Given the description of an element on the screen output the (x, y) to click on. 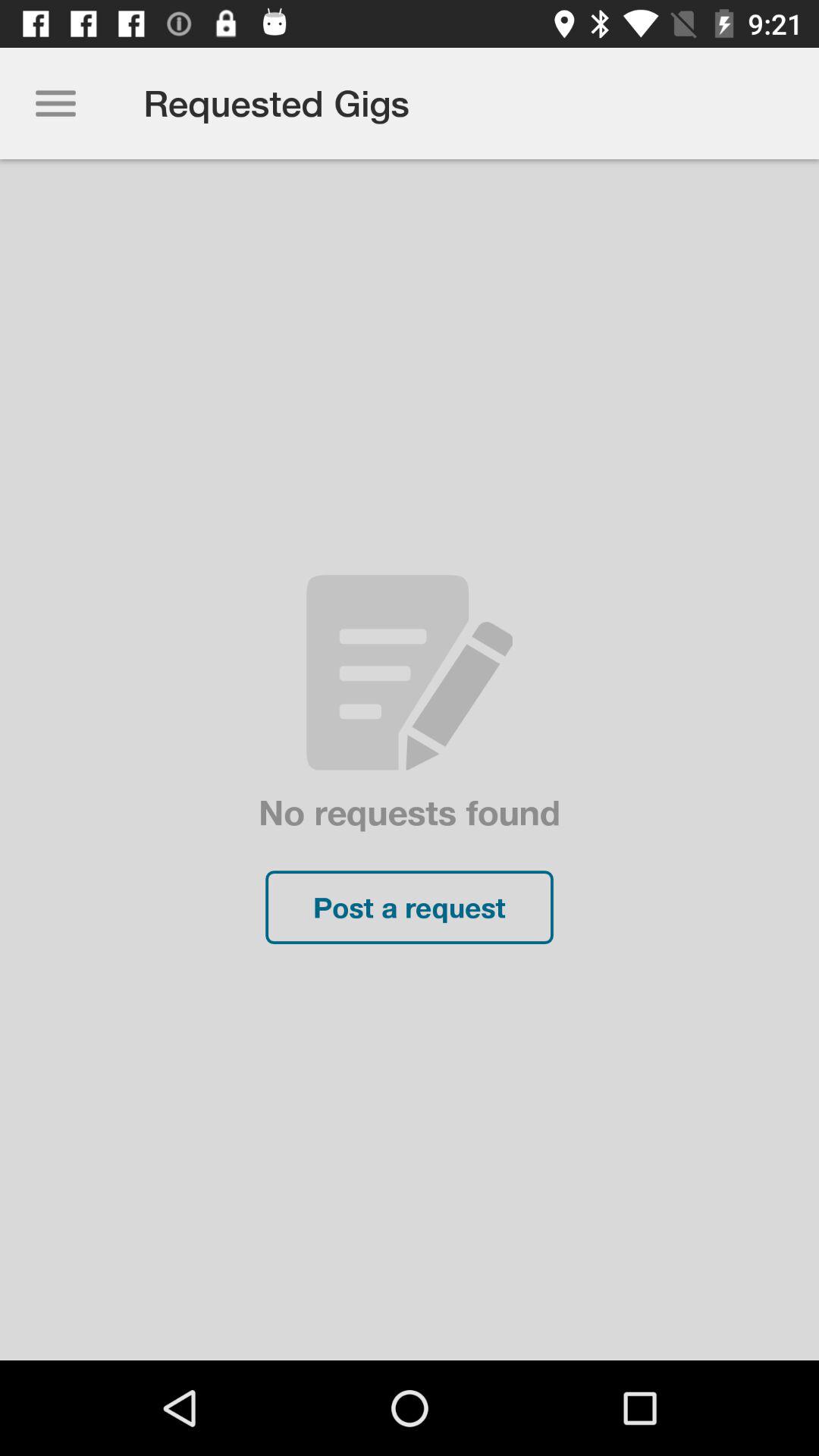
swipe to the post a request (409, 907)
